Given the description of an element on the screen output the (x, y) to click on. 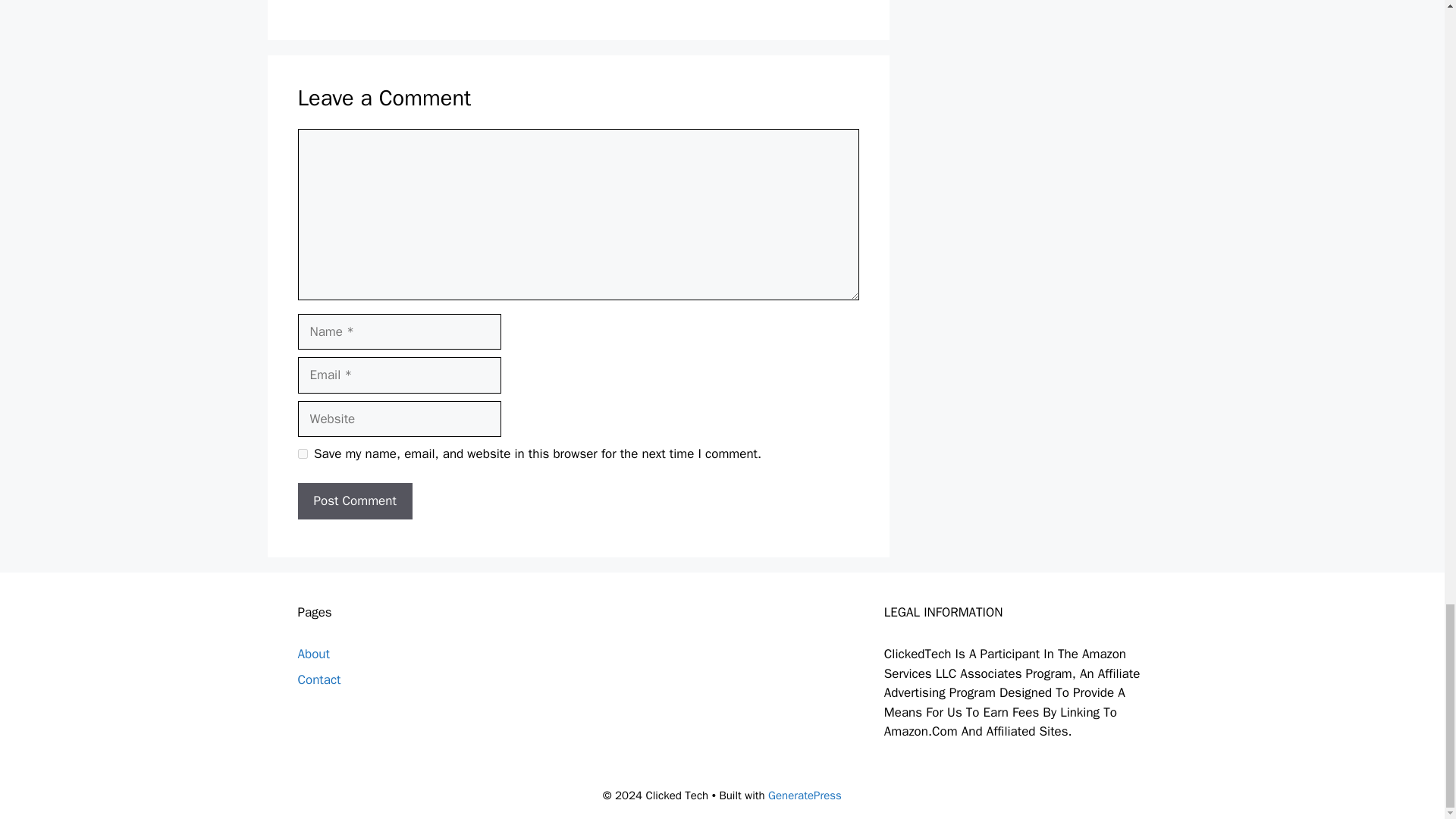
Post Comment (354, 501)
Post Comment (354, 501)
Contact (318, 679)
About (313, 653)
yes (302, 453)
GeneratePress (804, 795)
